Given the description of an element on the screen output the (x, y) to click on. 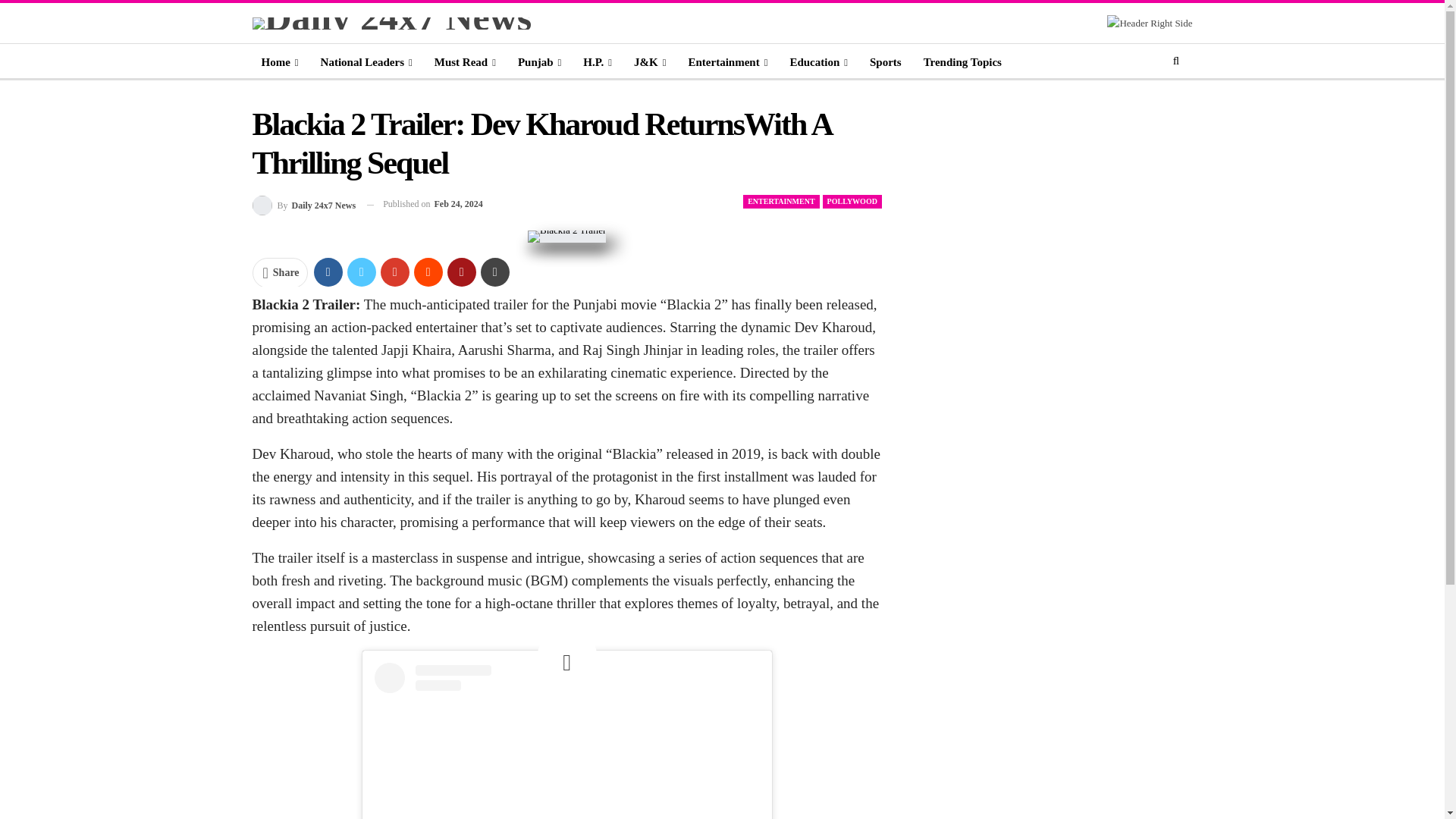
Home (279, 62)
National Leaders (366, 62)
Punjab (539, 62)
Browse Author Articles (303, 204)
Must Read (465, 62)
H.P. (597, 62)
